Given the description of an element on the screen output the (x, y) to click on. 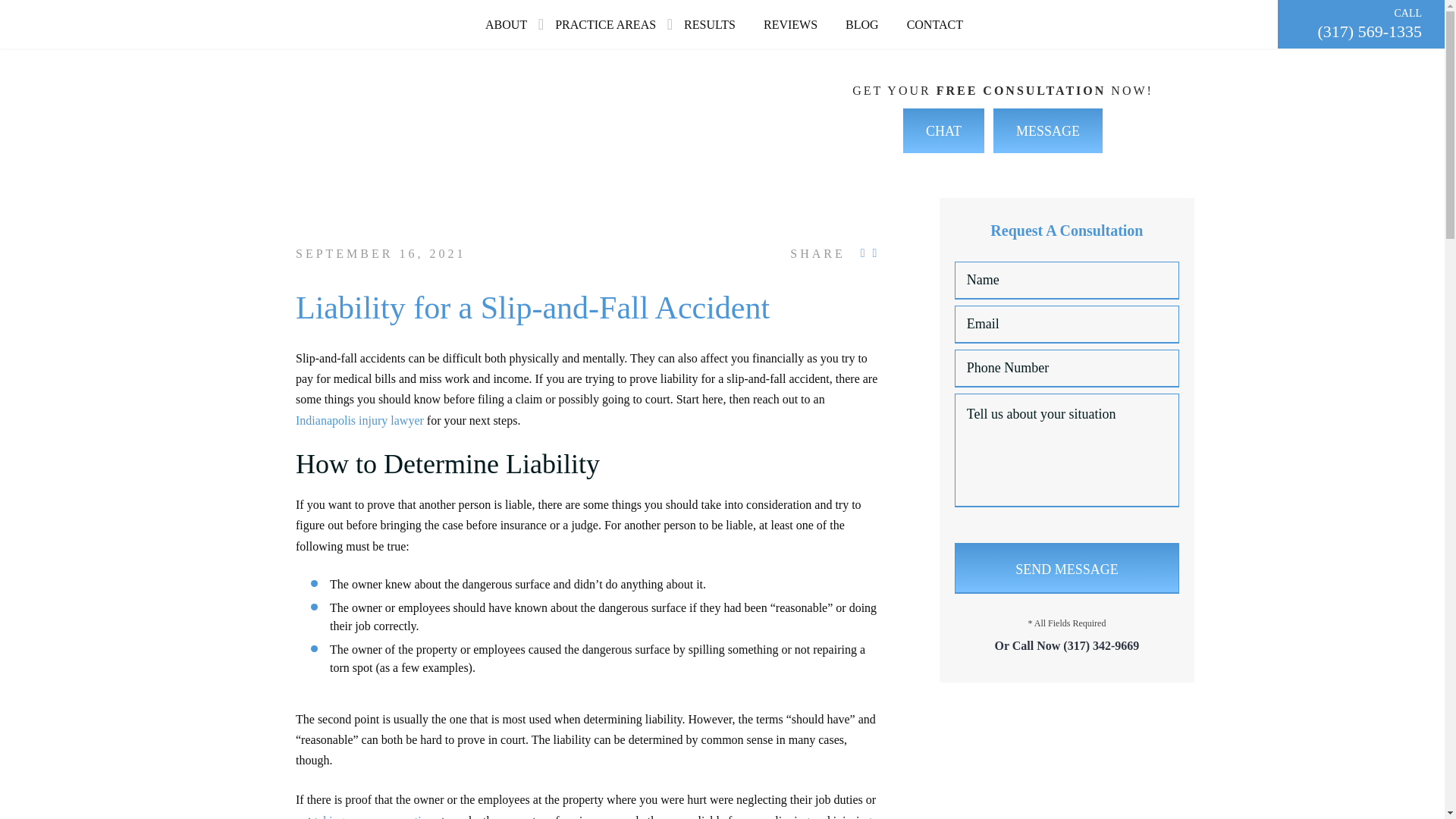
Send Message (1067, 567)
CONTACT (934, 26)
PRACTICE AREAS (605, 26)
REVIEWS (789, 26)
ABOUT (505, 26)
taking proper precautions (376, 816)
CHAT (943, 130)
Indianapolis injury lawyer (359, 420)
RESULTS (709, 26)
Send Message (1067, 567)
